Given the description of an element on the screen output the (x, y) to click on. 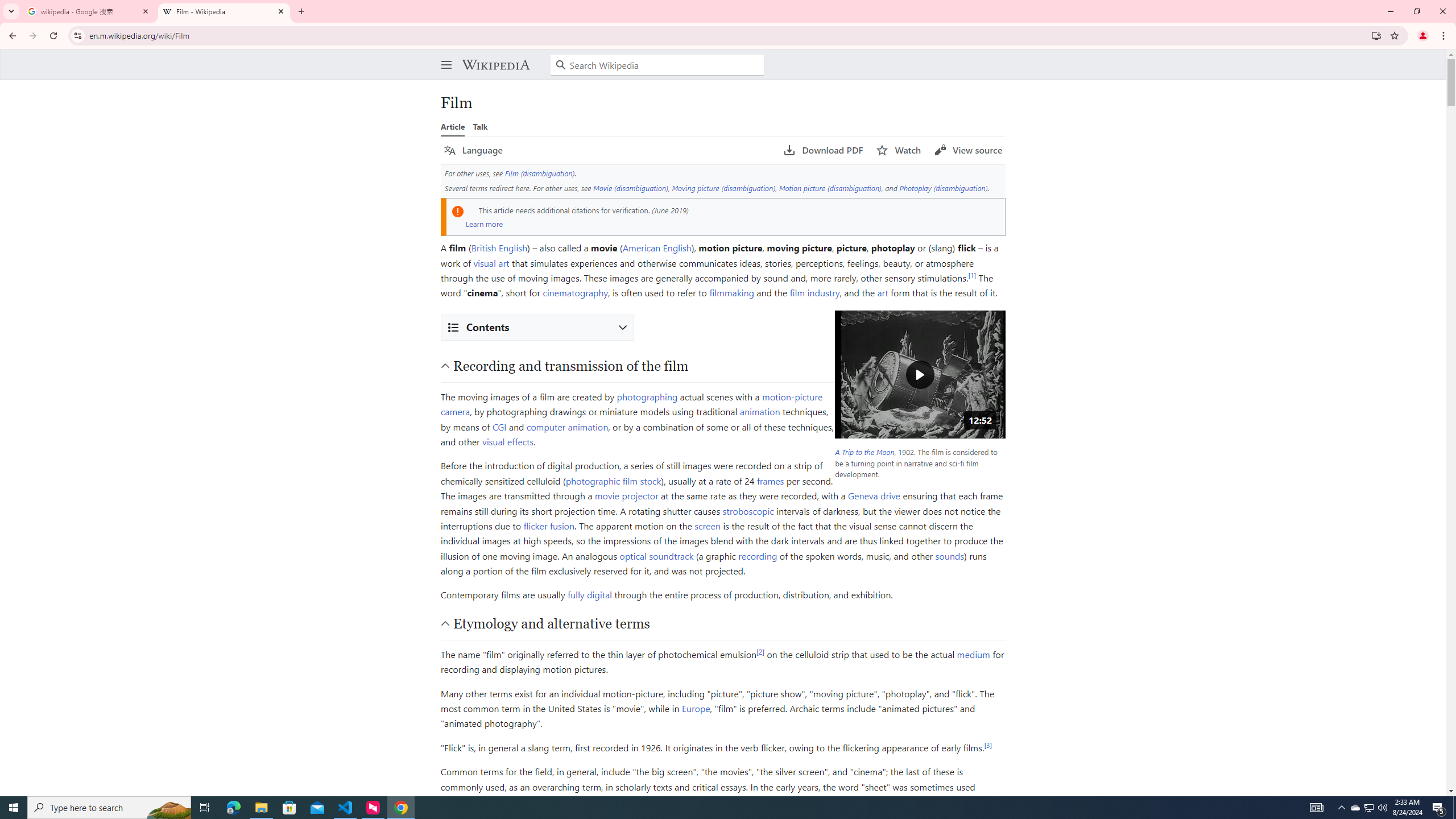
A Trip to the Moon (863, 452)
Moving picture (disambiguation) (723, 188)
verification (629, 209)
AutomationID: language-selector (606, 150)
cinematography (575, 292)
AutomationID: minerva-download (823, 150)
Language (472, 149)
Movie (disambiguation) (630, 188)
AutomationID: page-actions-viewsource (968, 150)
recording (757, 555)
